Given the description of an element on the screen output the (x, y) to click on. 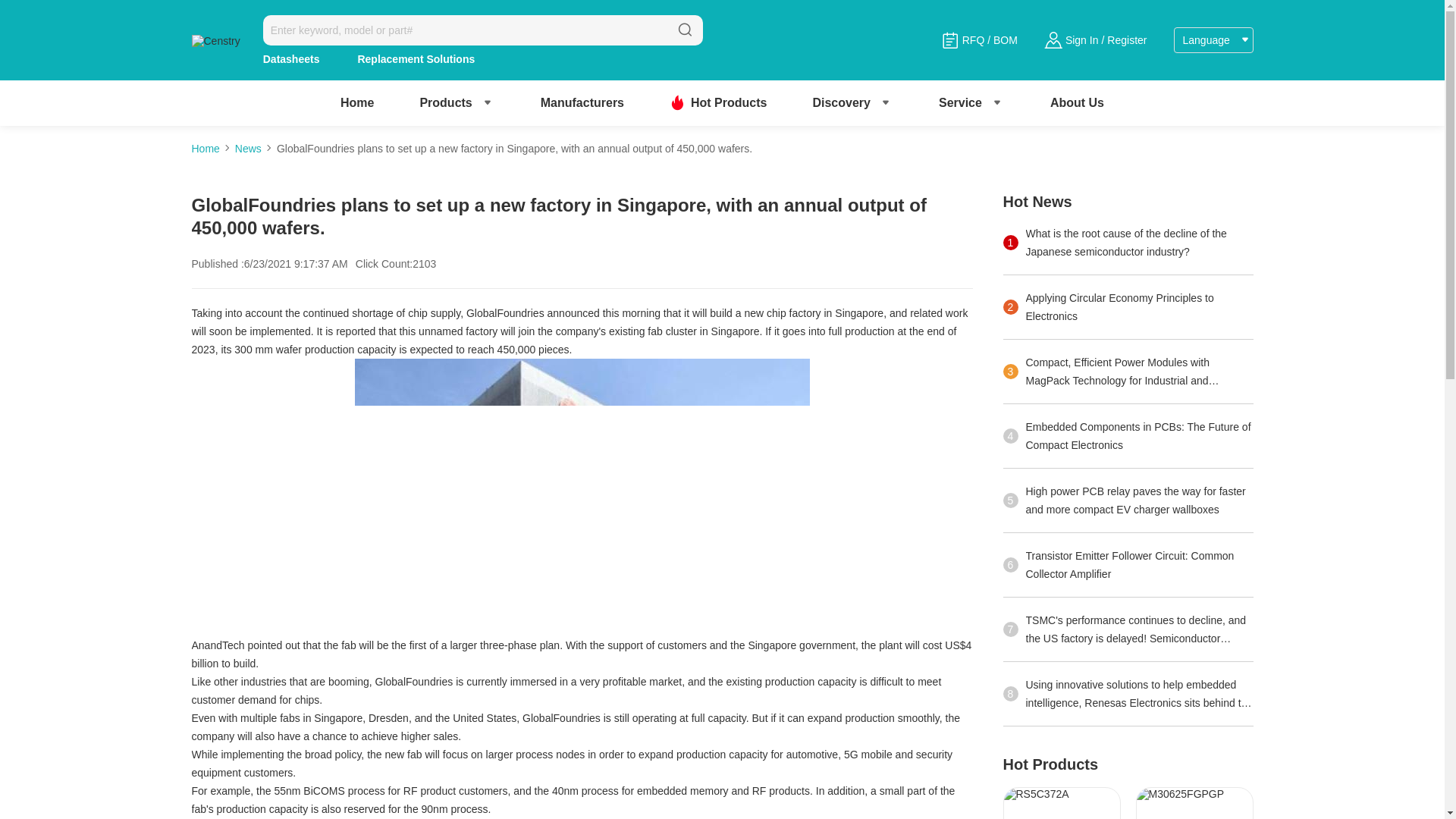
Language (1213, 40)
Home (357, 102)
Home (357, 102)
Censtry (215, 39)
Replacement Solutions (415, 59)
Datasheets (291, 59)
Register (1126, 39)
Replacement Solutions (415, 59)
Sign In (1082, 39)
Datasheets (291, 59)
Sign In (1082, 39)
Register (1126, 39)
